Given the description of an element on the screen output the (x, y) to click on. 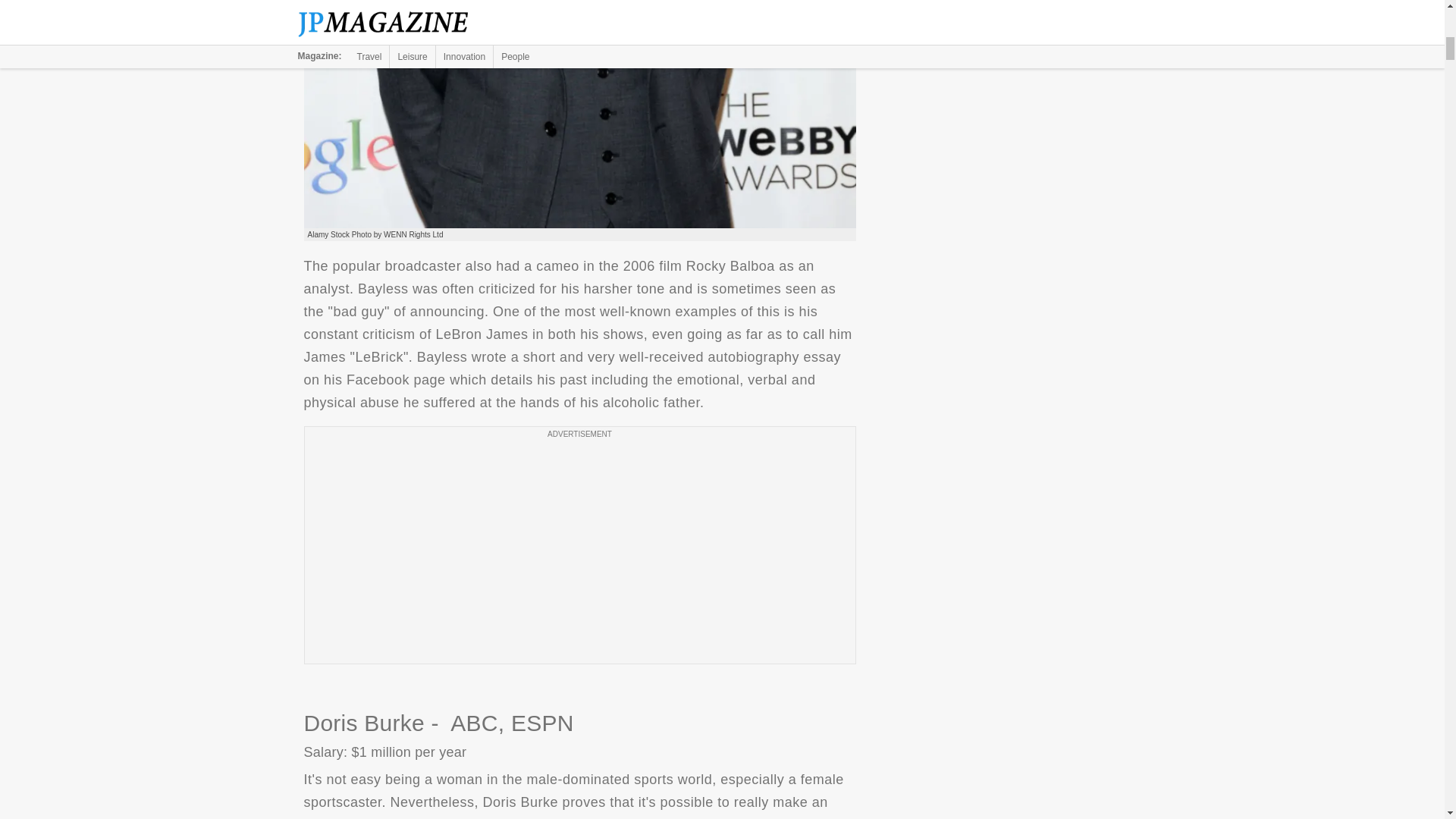
Skip Bayless - Fox Sports 1 (579, 114)
